Given the description of an element on the screen output the (x, y) to click on. 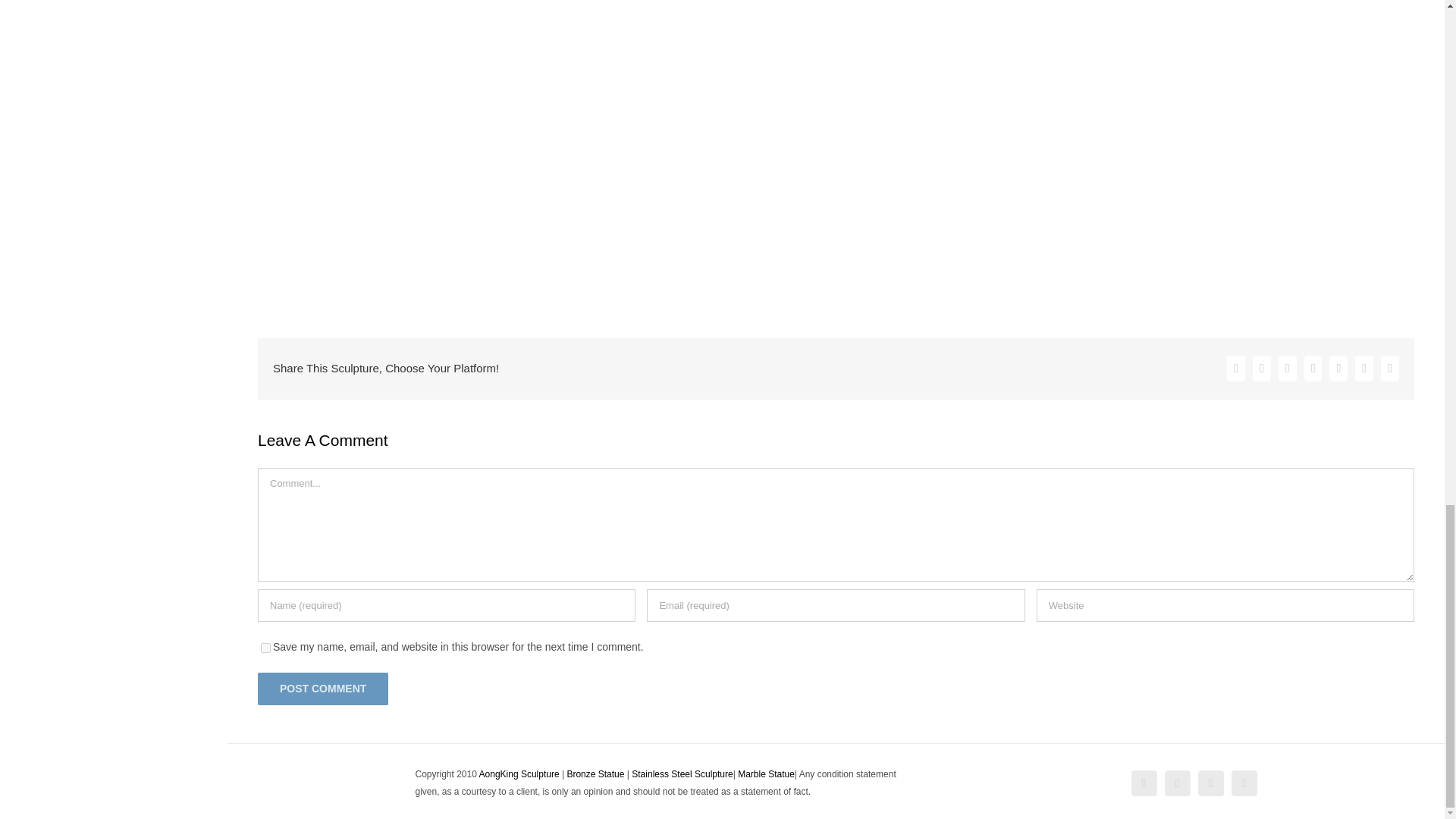
yes (265, 647)
Post Comment (322, 688)
